Given the description of an element on the screen output the (x, y) to click on. 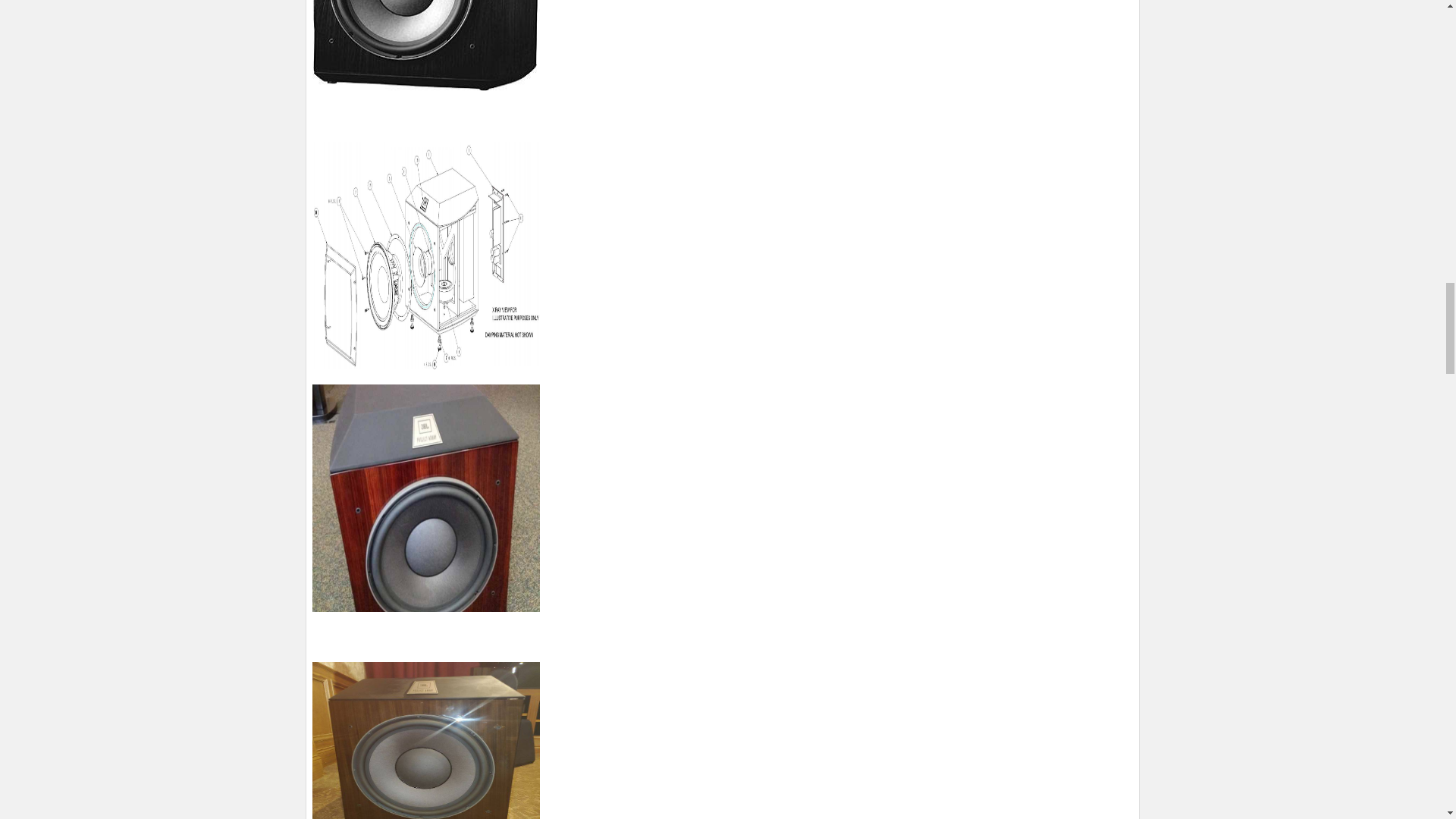
JBL 1500 Array (426, 45)
JBL 1500 Array (426, 740)
JBL 1500 Array (426, 255)
JBL 1500 Array (426, 497)
